Given the description of an element on the screen output the (x, y) to click on. 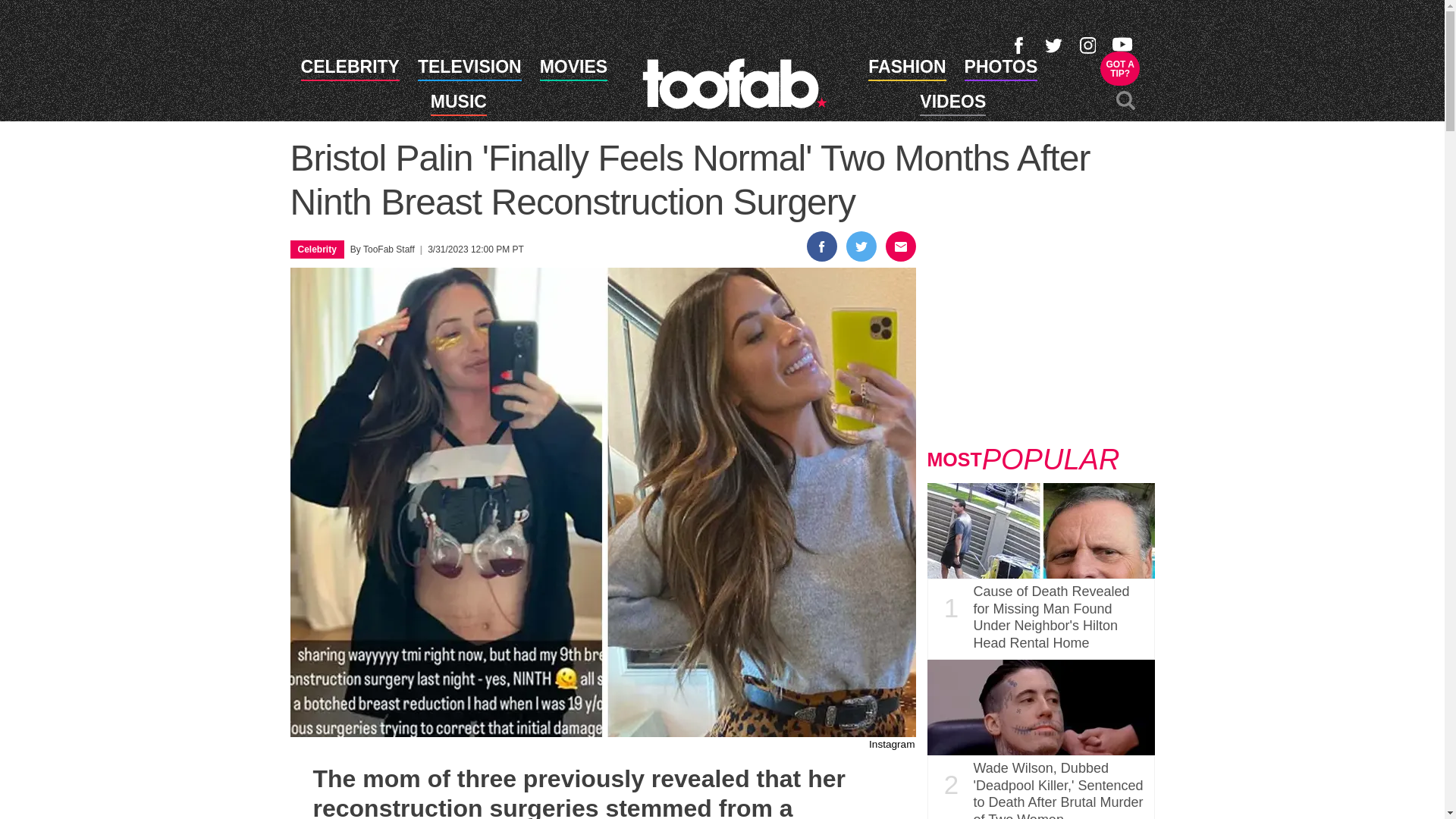
MOVIES (573, 69)
MUSIC (1120, 68)
FASHION (458, 104)
PHOTOS (905, 69)
TELEVISION (1000, 69)
CELEBRITY (469, 69)
toofab (349, 69)
VIDEOS (734, 82)
Celebrity (952, 104)
